Given the description of an element on the screen output the (x, y) to click on. 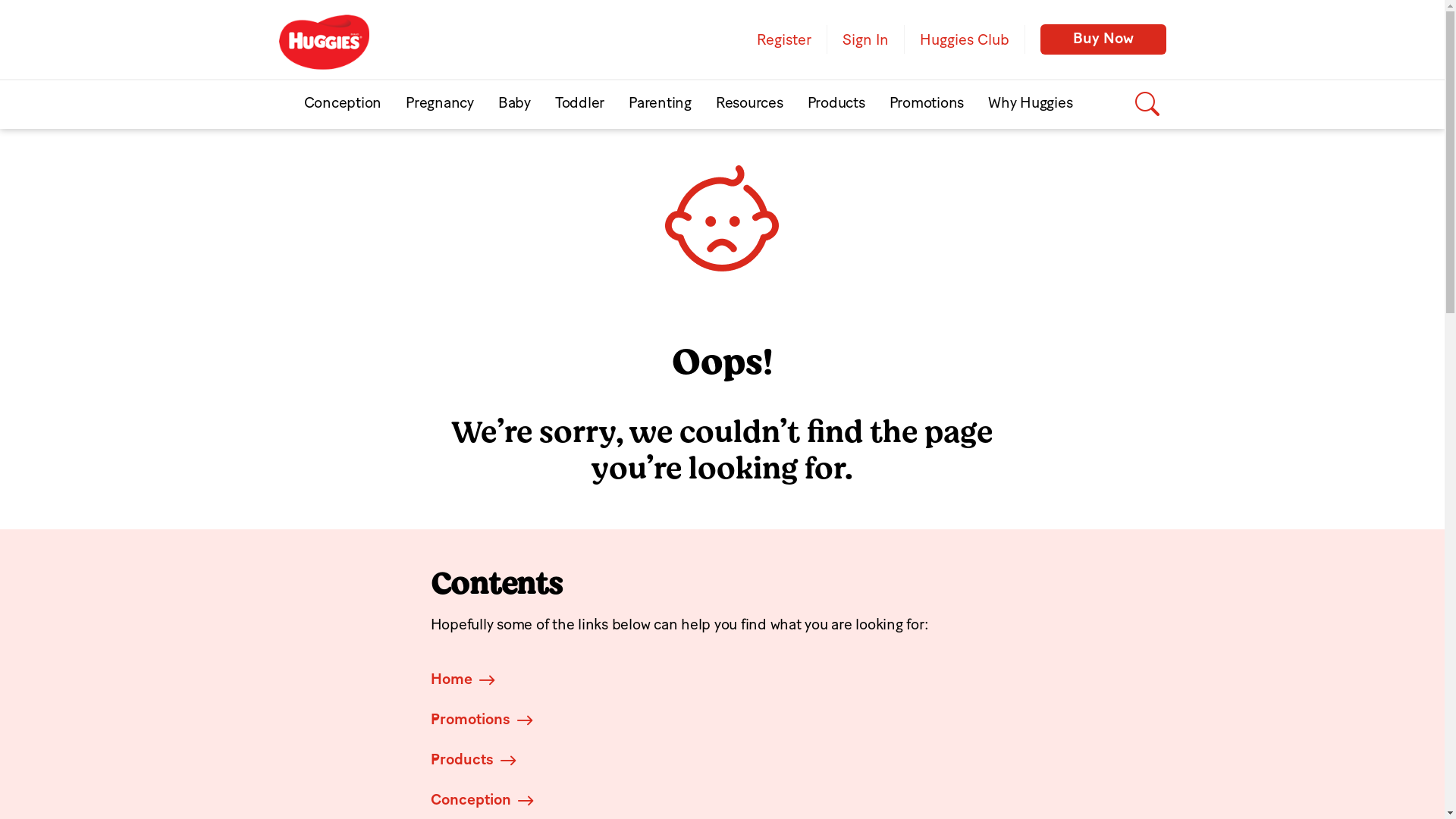
Conception Element type: text (470, 799)
Promotions Element type: text (470, 719)
Promotions Element type: text (925, 104)
Baby Element type: text (514, 104)
Toddler Element type: text (579, 104)
Buy Now Element type: text (1103, 39)
Register Element type: text (784, 39)
Home Element type: text (451, 679)
Pregnancy Element type: text (439, 104)
Resources Element type: text (749, 104)
Why Huggies Element type: text (1030, 104)
Products Element type: text (835, 104)
Conception Element type: text (342, 104)
Sign In Element type: text (864, 39)
Parenting Element type: text (659, 104)
Huggies Club Element type: text (963, 39)
Products Element type: text (461, 759)
